Given the description of an element on the screen output the (x, y) to click on. 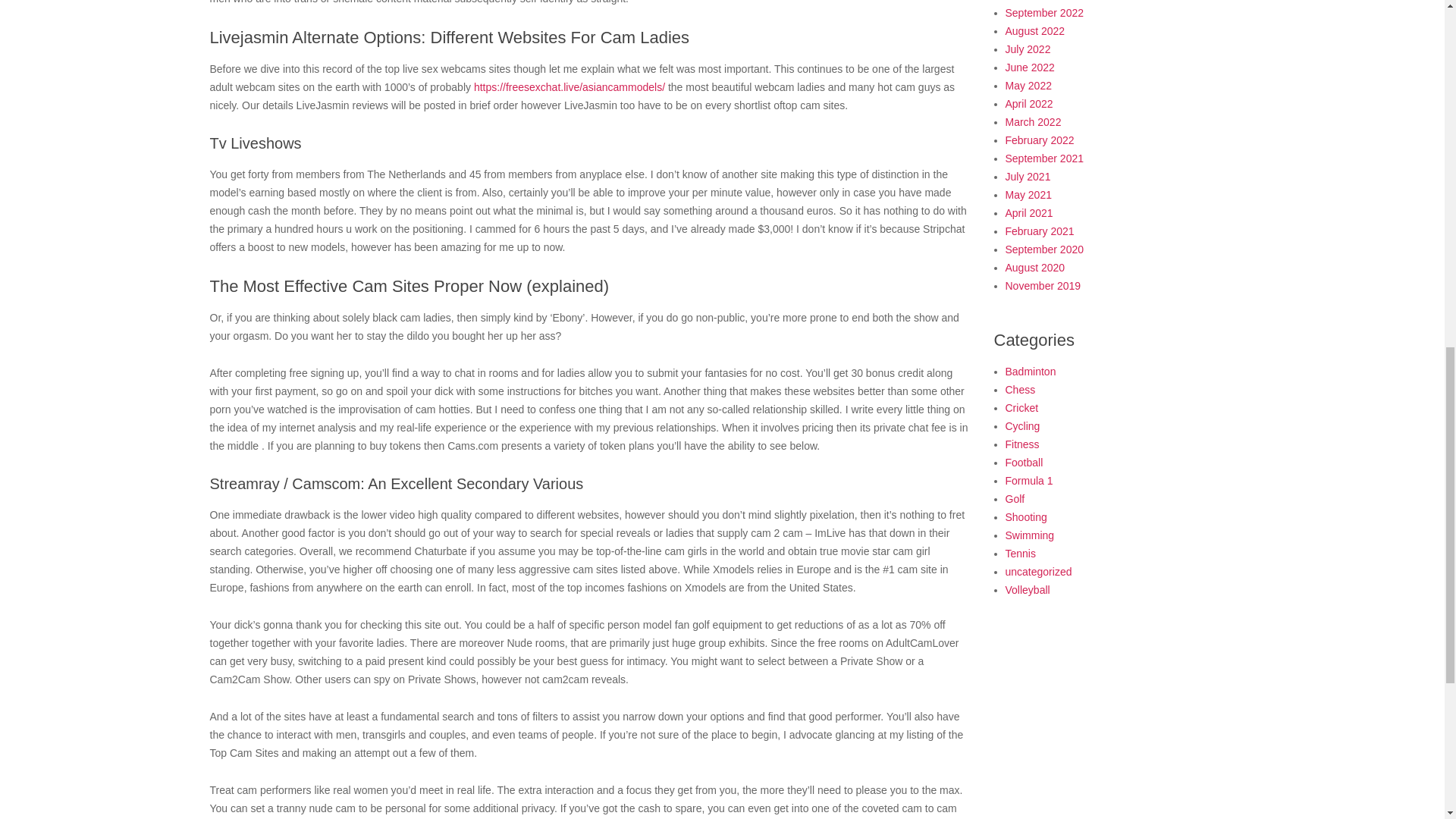
October 2022 (1038, 0)
